Given the description of an element on the screen output the (x, y) to click on. 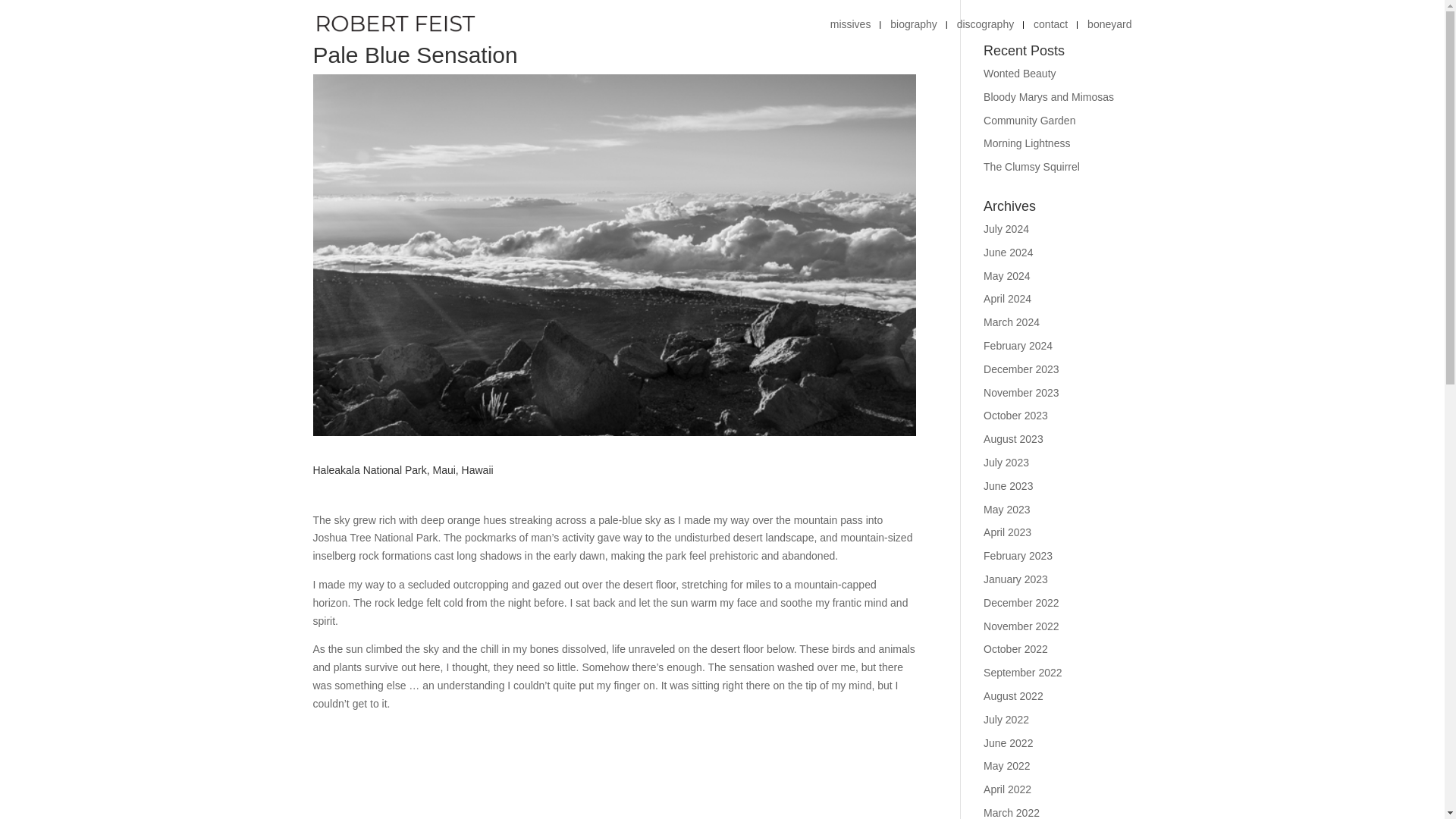
December 2022 (1021, 603)
September 2022 (1023, 672)
February 2023 (1018, 555)
October 2022 (1016, 648)
June 2023 (1008, 485)
August 2023 (1013, 439)
contact (1050, 33)
Community Garden (1029, 120)
November 2023 (1021, 392)
February 2024 (1018, 345)
